Given the description of an element on the screen output the (x, y) to click on. 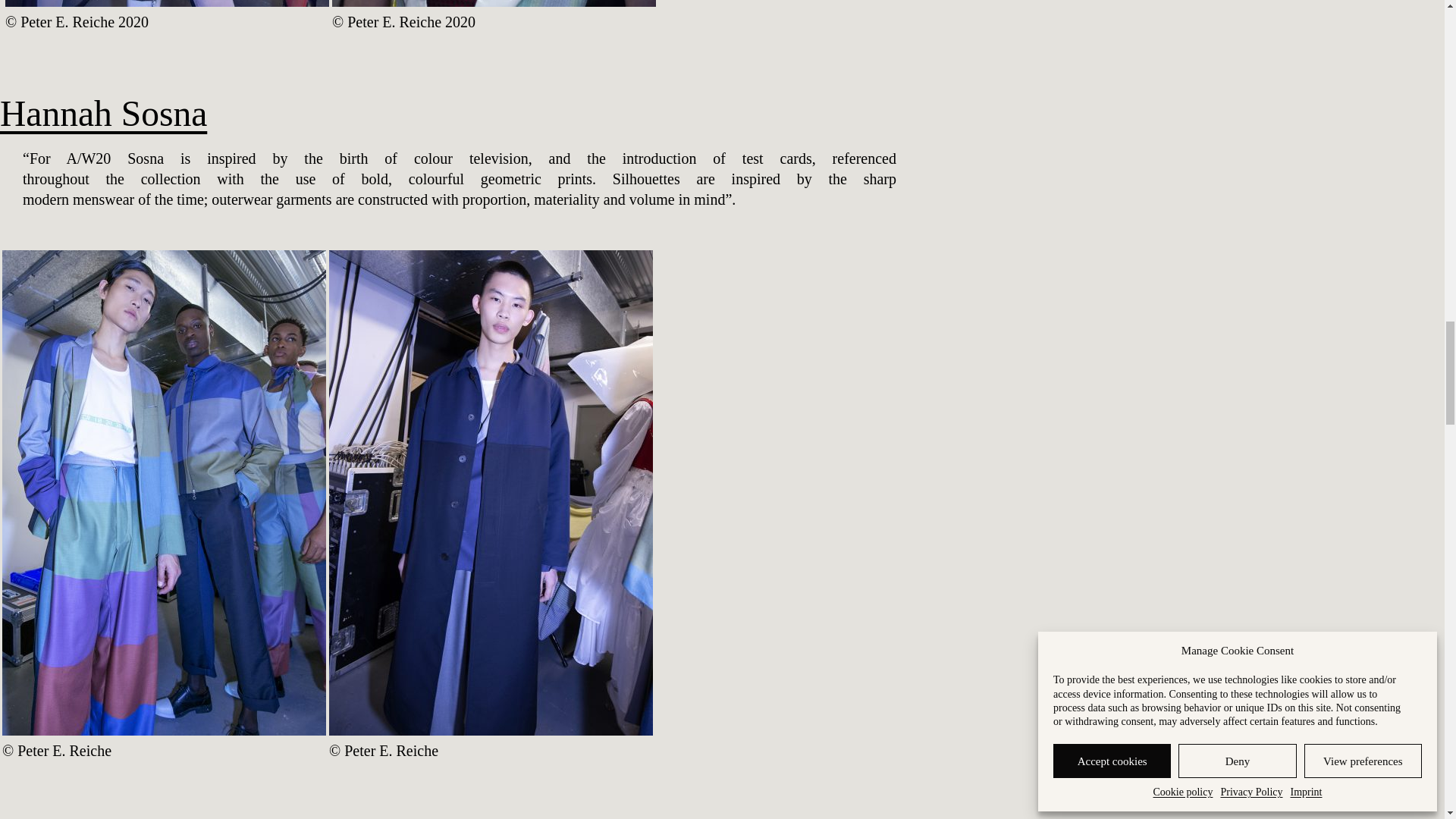
Hannah Sosna (103, 113)
